Given the description of an element on the screen output the (x, y) to click on. 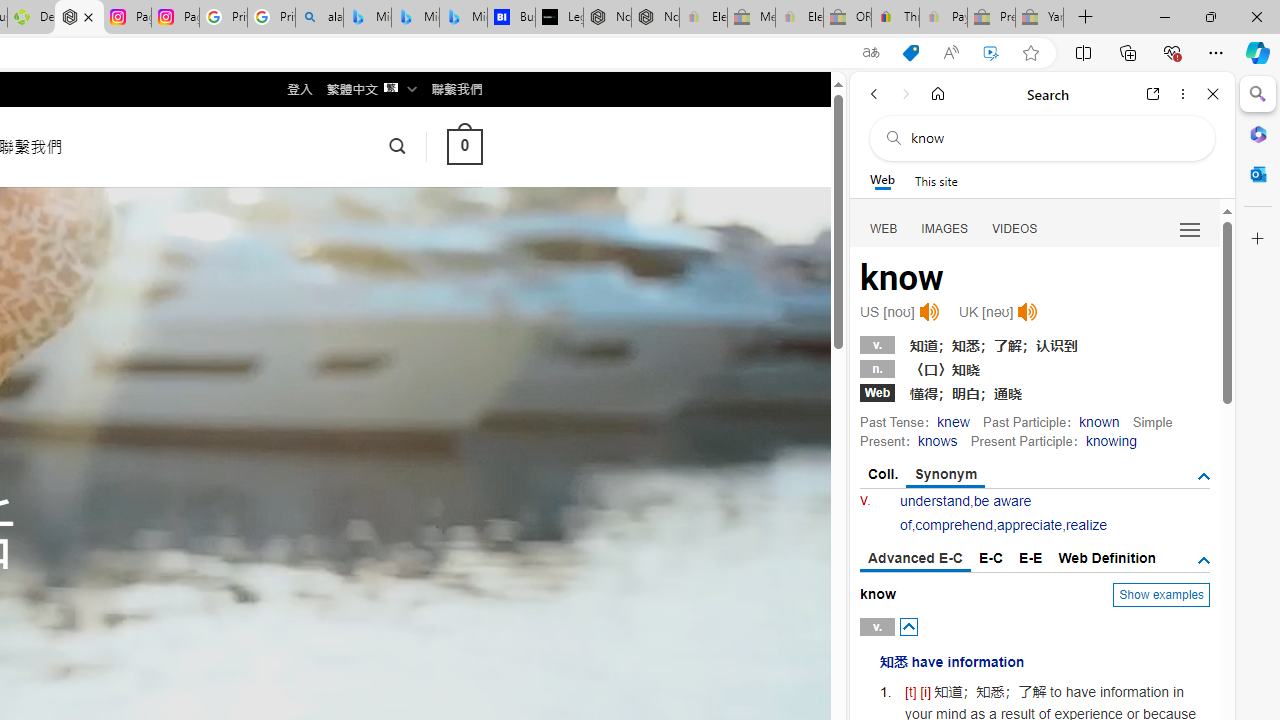
AutomationID: tgsb (1203, 476)
 0  (464, 146)
Advanced E-C (915, 559)
appreciate (1028, 524)
  0   (464, 146)
